Given the description of an element on the screen output the (x, y) to click on. 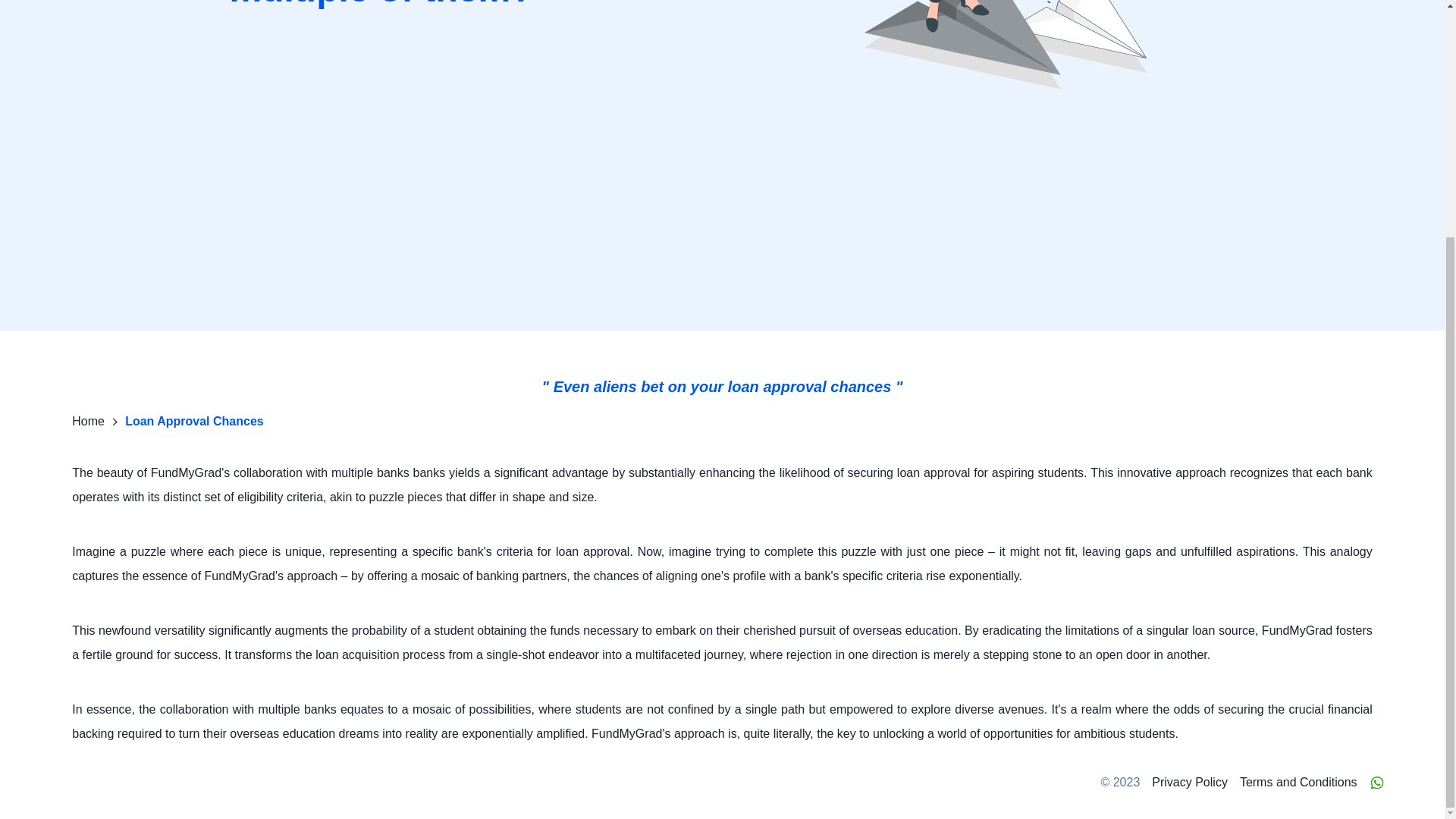
Terms and Conditions (1298, 782)
Home (87, 420)
Privacy Policy (1189, 782)
